Given the description of an element on the screen output the (x, y) to click on. 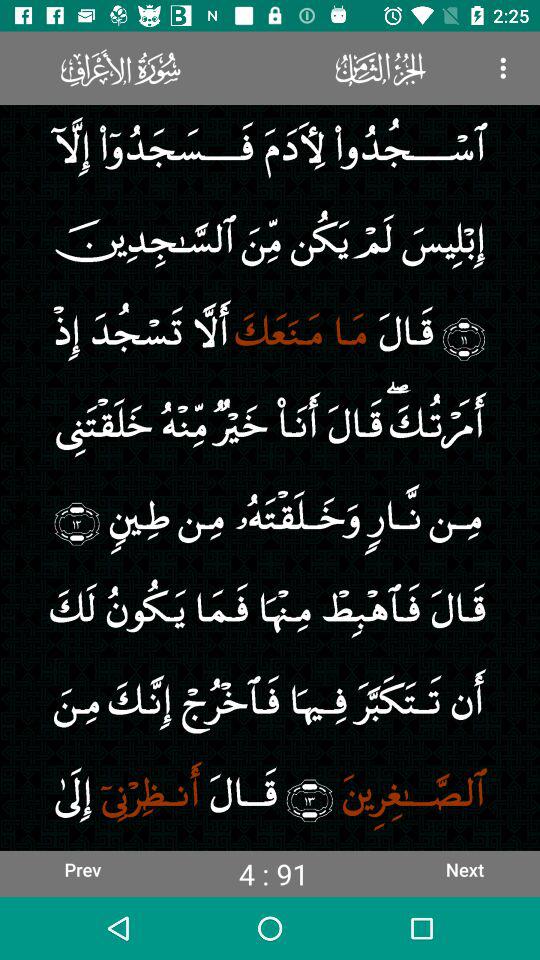
click icon next to the 4 : 91 item (464, 869)
